Given the description of an element on the screen output the (x, y) to click on. 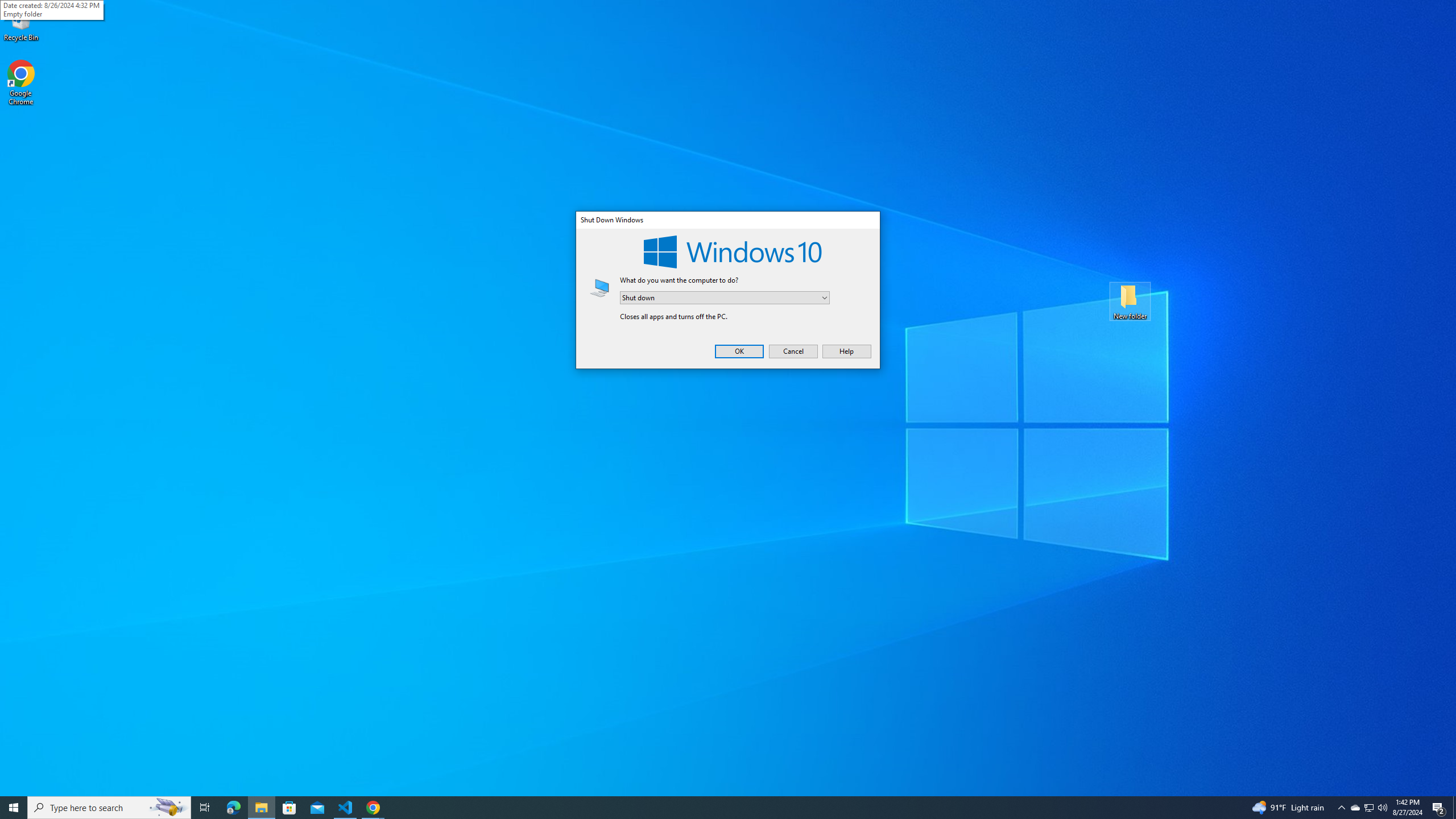
User Promoted Notification Area (1368, 807)
Google Chrome - 3 running windows (373, 807)
Type here to search (108, 807)
Microsoft Store (289, 807)
Action Center, 2 new notifications (1439, 807)
File Explorer - 1 running window (261, 807)
Start (13, 807)
OK (739, 350)
Microsoft Edge (233, 807)
Visual Studio Code - 1 running window (345, 807)
What do you want the computer to do? (1355, 807)
Task View (1368, 807)
